Given the description of an element on the screen output the (x, y) to click on. 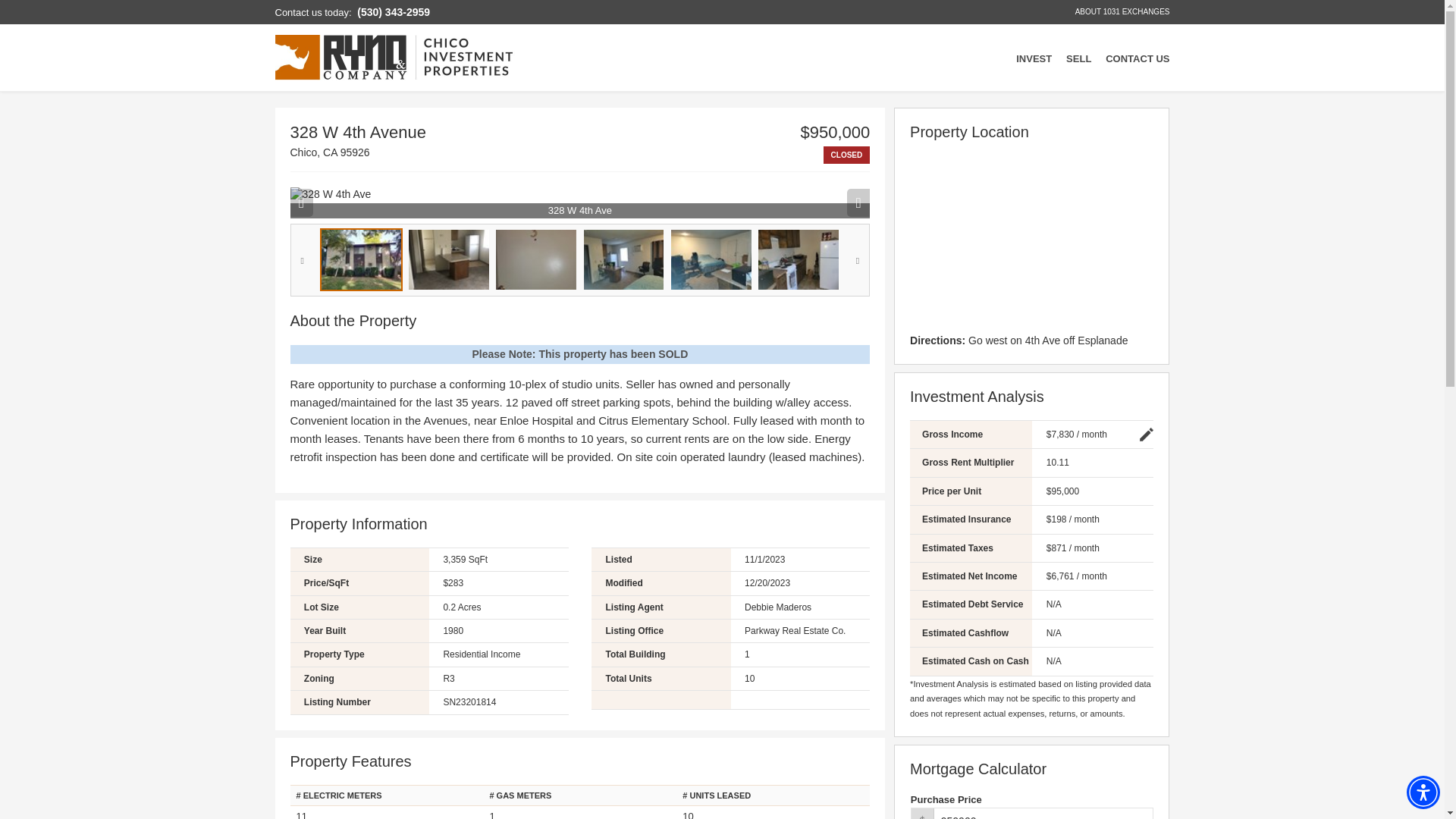
ABOUT 1031 EXCHANGES (1122, 12)
CONTACT US (1137, 58)
INVEST (1033, 58)
10.11 (1098, 462)
Accessibility Menu (1422, 792)
950000 (1032, 813)
SELL (1077, 58)
